Given the description of an element on the screen output the (x, y) to click on. 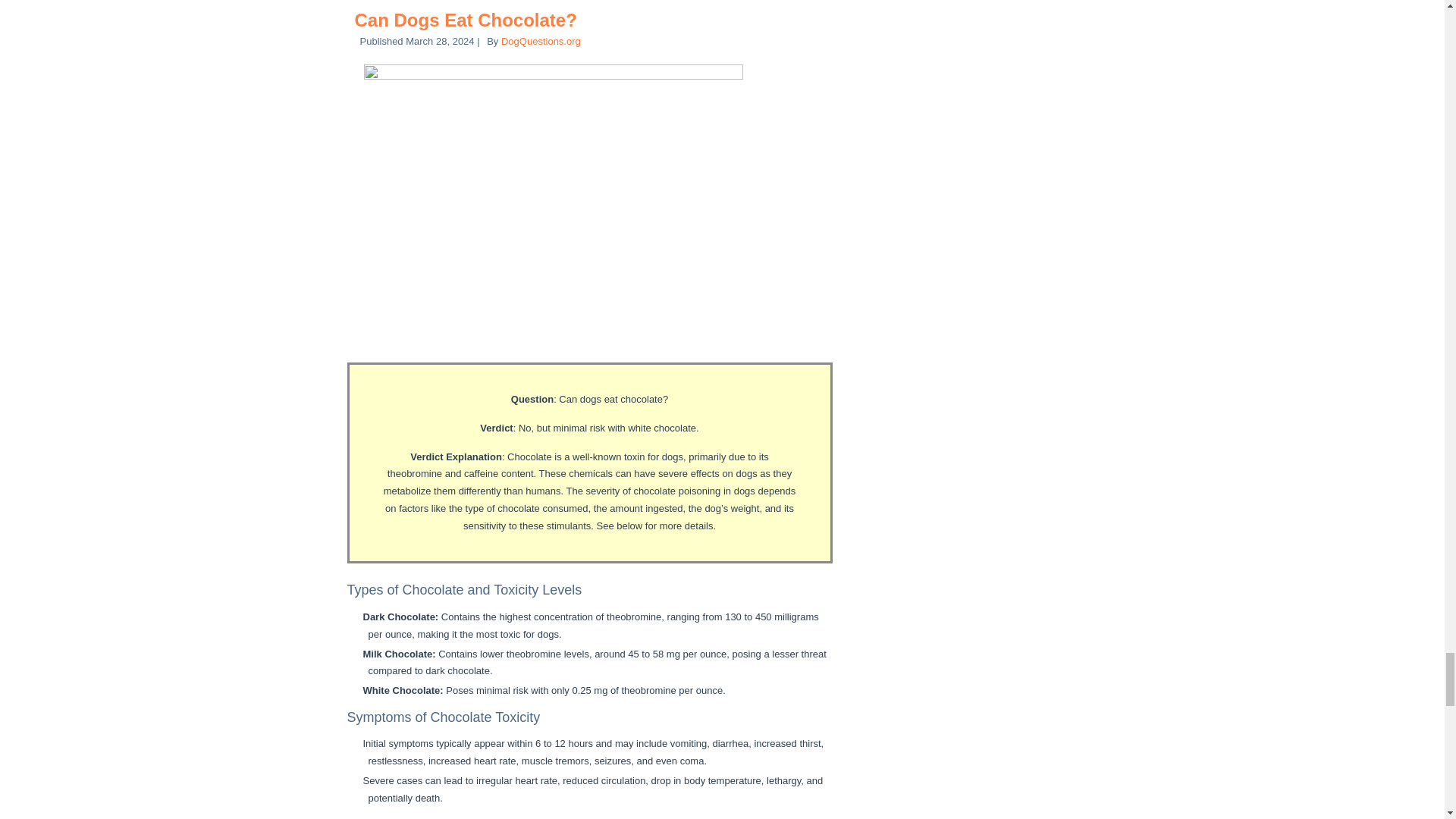
DogQuestions.org (540, 41)
Can Dogs Eat Chocolate? (465, 19)
